Given the description of an element on the screen output the (x, y) to click on. 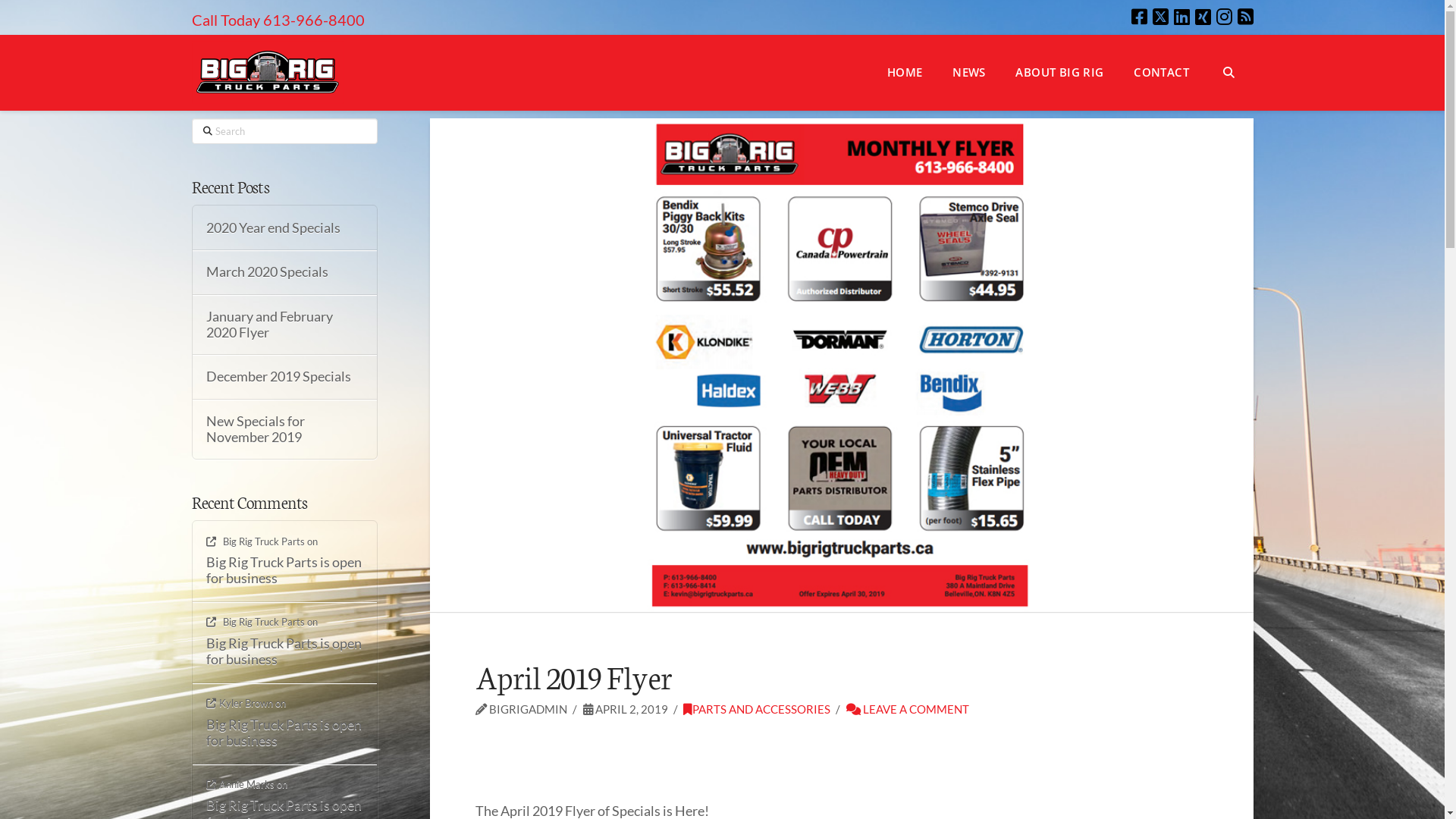
Big Rig Truck Parts is open for business Element type: text (284, 570)
Facebook Element type: hover (1139, 16)
CONTACT Element type: text (1160, 72)
2020 Year end Specials Element type: text (284, 227)
XING Element type: hover (1203, 16)
X / Twitter Element type: hover (1160, 16)
Big Rig Truck Parts Element type: text (255, 541)
RSS Element type: hover (1245, 16)
HOME Element type: text (904, 72)
January and February 2020 Flyer Element type: text (284, 324)
ABOUT BIG RIG Element type: text (1059, 72)
LinkedIn Element type: hover (1181, 16)
PARTS AND ACCESSORIES Element type: text (756, 708)
New Specials for November 2019 Element type: text (284, 429)
Big Rig Truck Parts is open for business Element type: text (284, 732)
LEAVE A COMMENT Element type: text (907, 708)
Big Rig Truck Parts Element type: text (255, 621)
Big Rig Truck Parts is open for business Element type: text (284, 651)
NEWS Element type: text (968, 72)
Instagram Element type: hover (1224, 16)
December 2019 Specials Element type: text (284, 376)
March 2020 Specials Element type: text (284, 271)
